Given the description of an element on the screen output the (x, y) to click on. 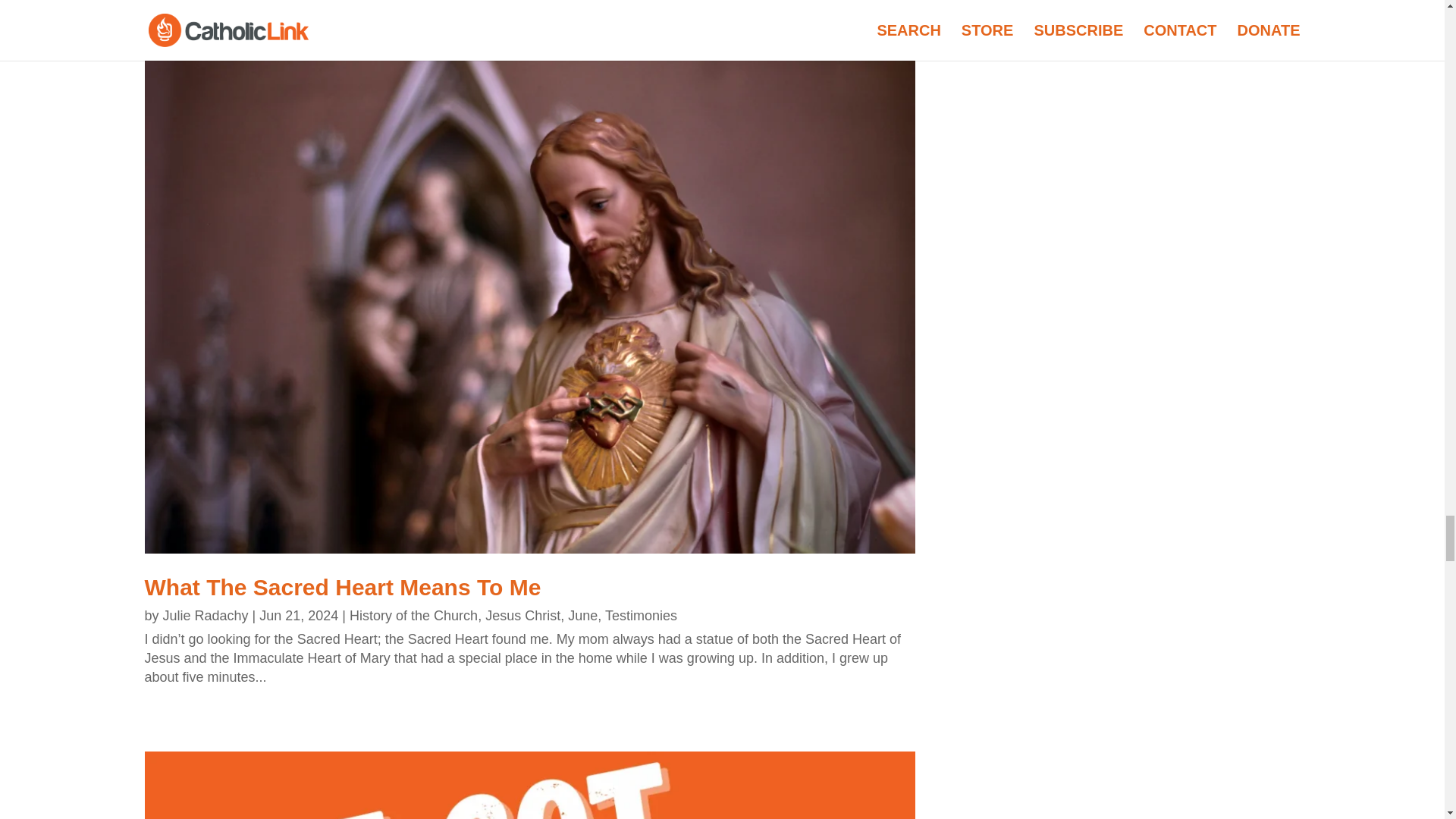
Posts by Julie Radachy (205, 615)
